Given the description of an element on the screen output the (x, y) to click on. 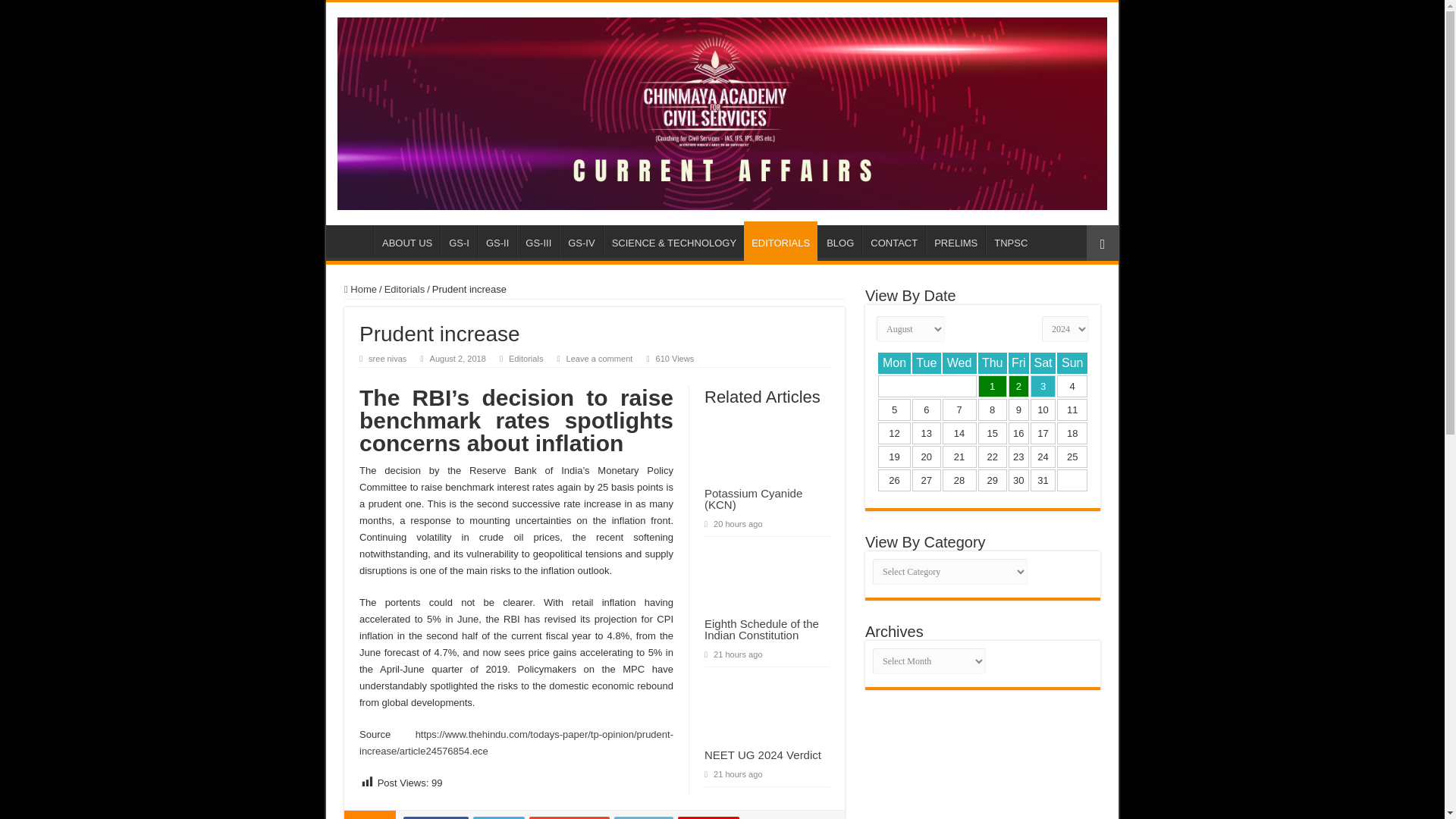
Twitter (498, 817)
NEET UG 2024 Verdict (762, 754)
TNPSC (1010, 241)
PRELIMS (955, 241)
CONTACT (892, 241)
Tuesday (926, 362)
Friday (1019, 362)
Saturday (1043, 362)
GS-II (496, 241)
Pinterest (708, 817)
Editorials (404, 288)
Monday (894, 362)
Editorials (525, 358)
ABOUT US (406, 241)
HOME (352, 241)
